Given the description of an element on the screen output the (x, y) to click on. 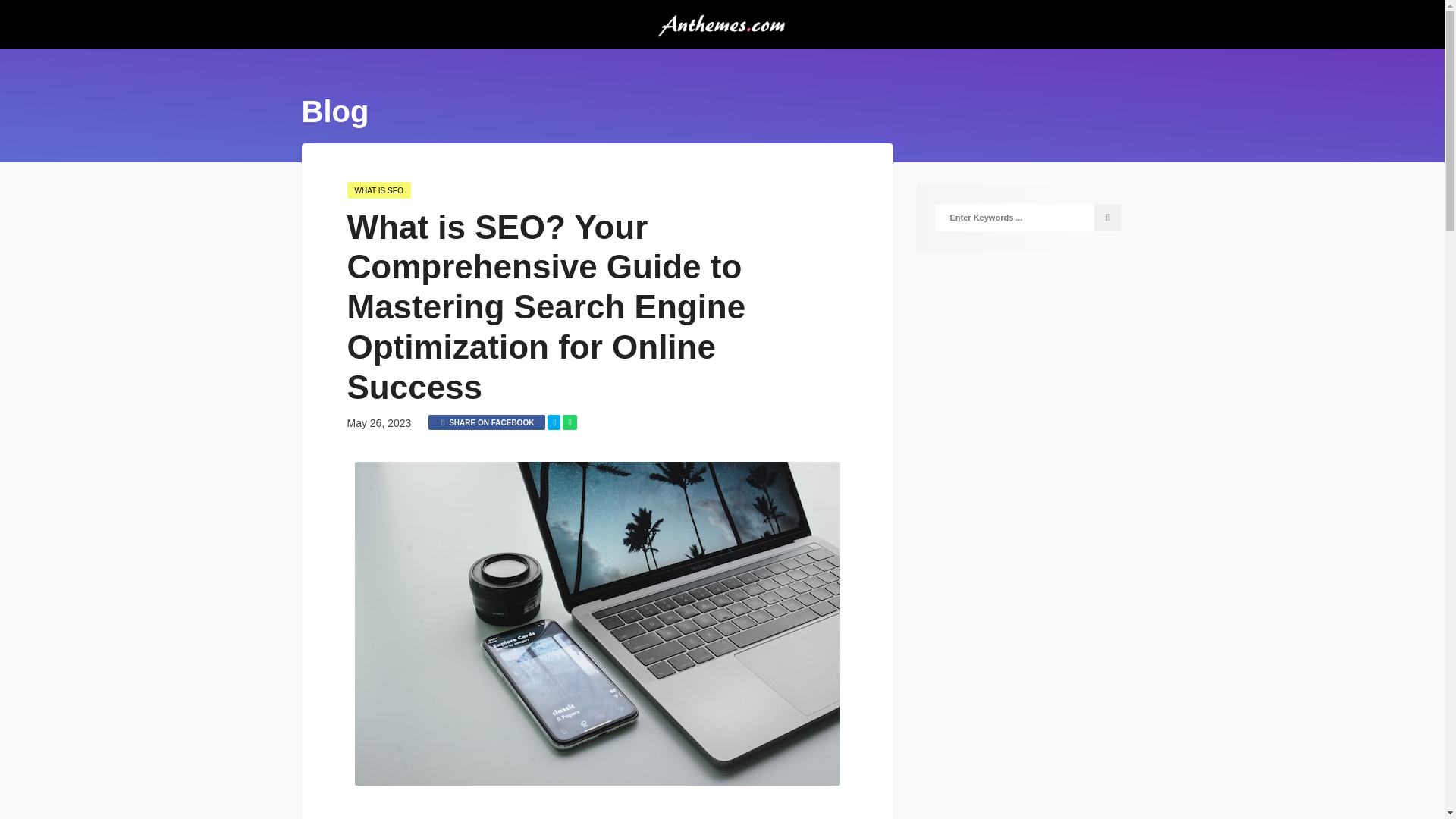
SHARE ON FACEBOOK (486, 421)
WHAT IS SEO (379, 190)
